Given the description of an element on the screen output the (x, y) to click on. 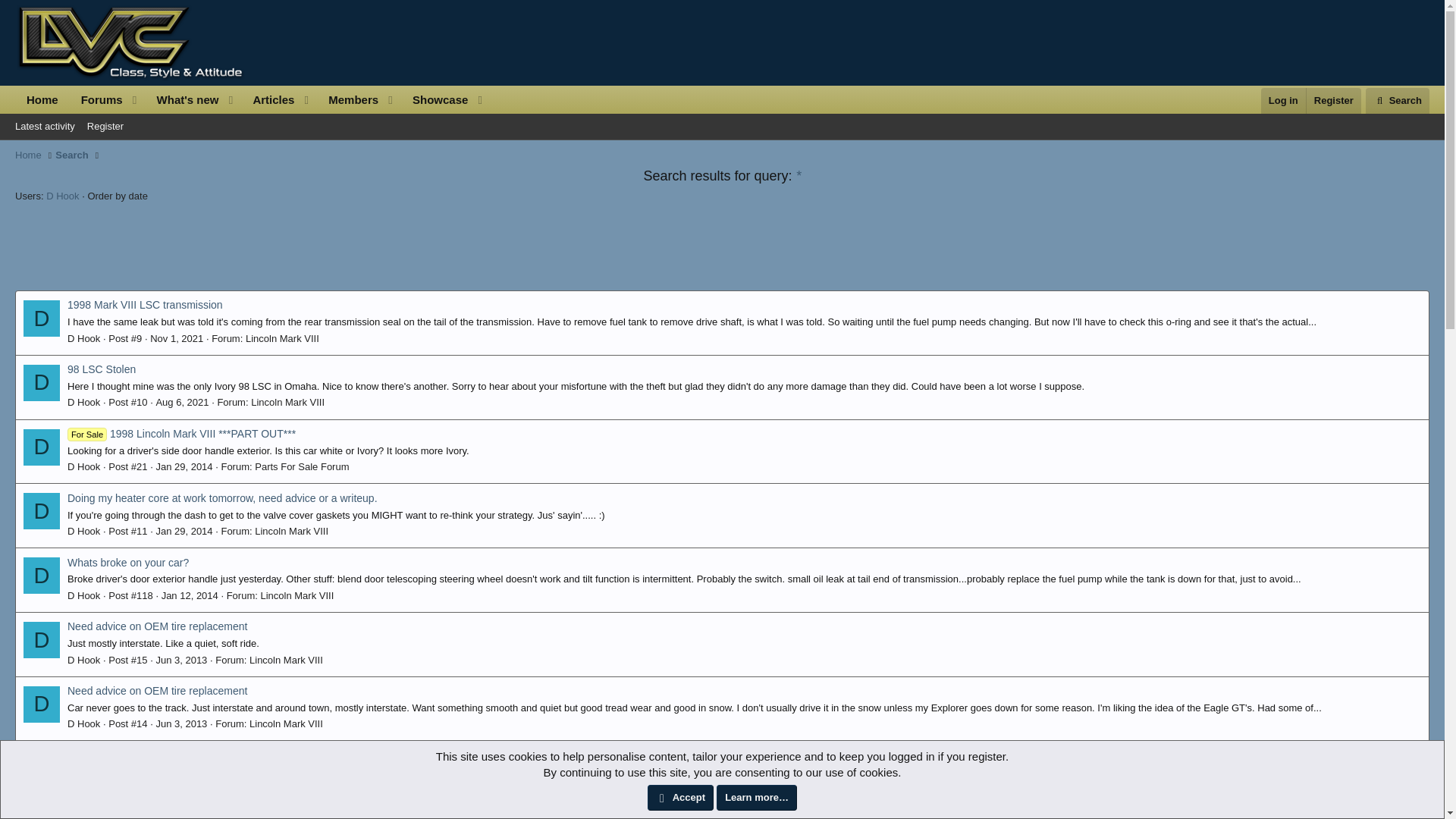
Jan 29, 2014 at 6:53 AM (183, 466)
Jun 2, 2013 at 7:00 PM (175, 787)
Jan 29, 2014 at 6:09 AM (252, 99)
Nov 1, 2021 at 10:32 AM (183, 531)
Jun 3, 2013 at 2:20 PM (176, 337)
Aug 6, 2021 at 5:54 AM (180, 723)
Articles (252, 99)
What's new (181, 401)
